Given the description of an element on the screen output the (x, y) to click on. 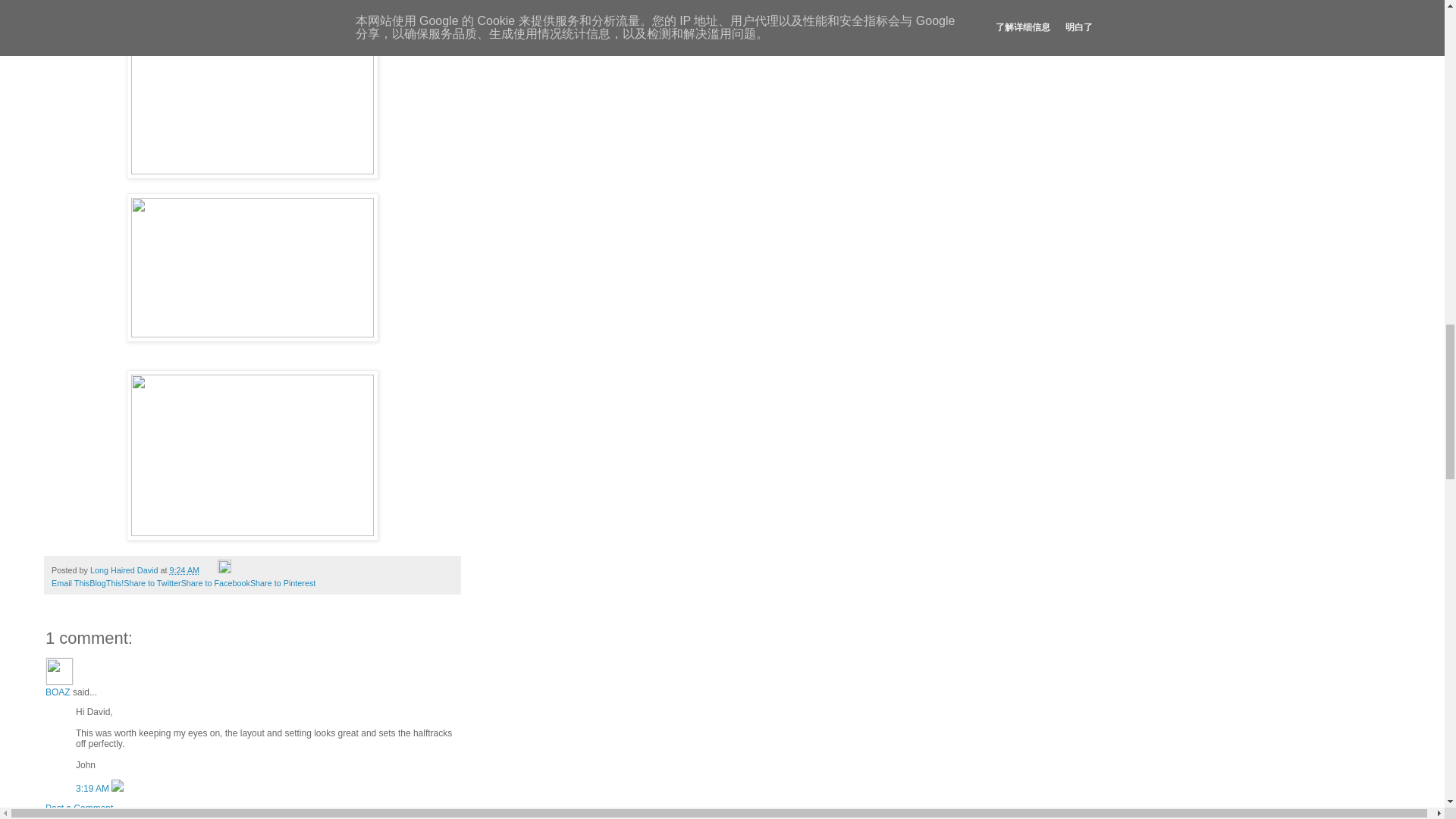
BlogThis! (105, 583)
comment permalink (93, 787)
Share to Twitter (151, 583)
Share to Pinterest (282, 583)
Share to Facebook (215, 583)
author profile (125, 569)
3:19 AM (93, 787)
BlogThis! (105, 583)
permanent link (183, 569)
BOAZ (59, 671)
Share to Facebook (215, 583)
Email This (69, 583)
Long Haired David (125, 569)
Edit Post (223, 569)
Delete Comment (117, 787)
